Given the description of an element on the screen output the (x, y) to click on. 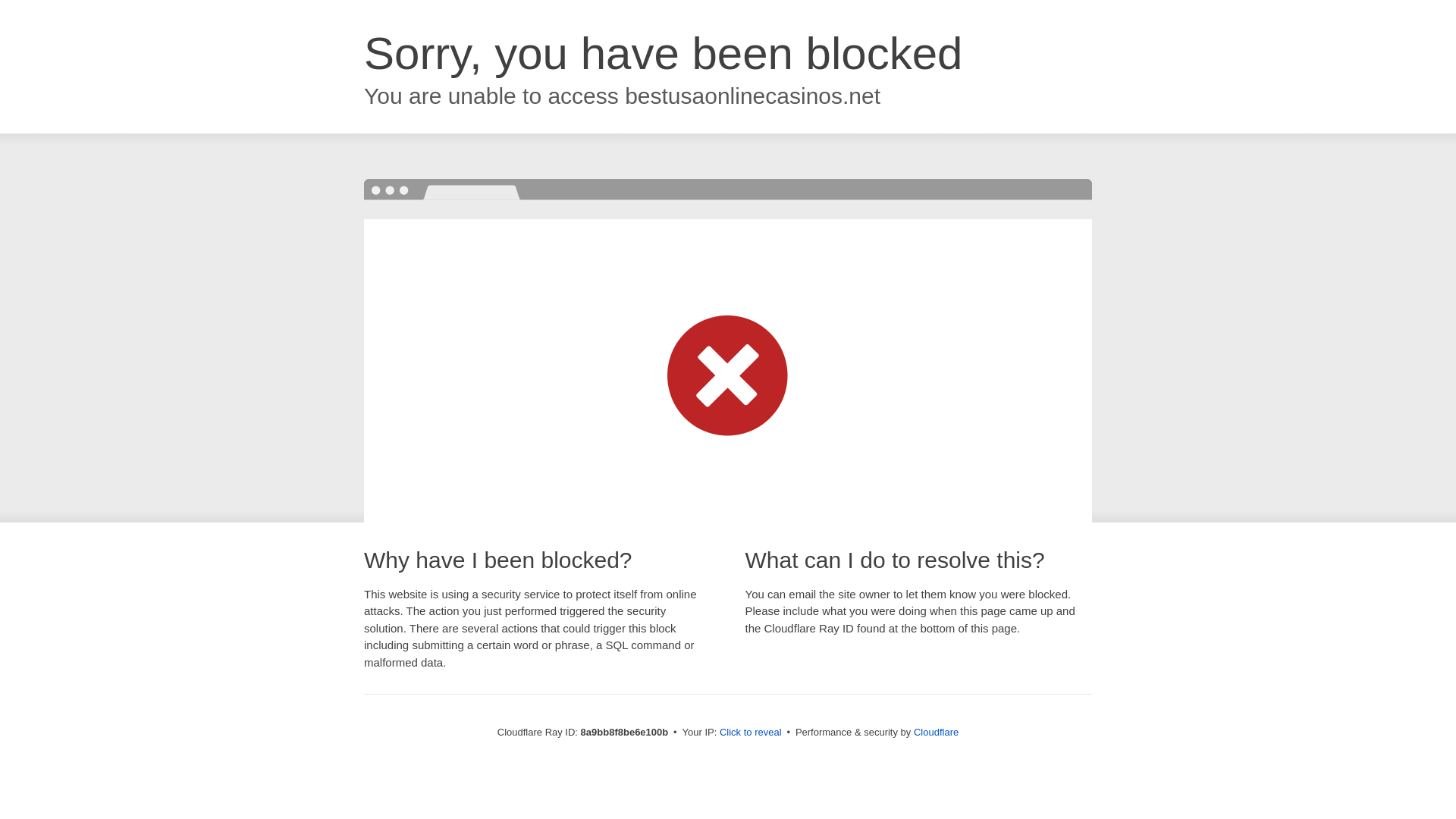
Cloudflare (936, 731)
Click to reveal (750, 732)
